Given the description of an element on the screen output the (x, y) to click on. 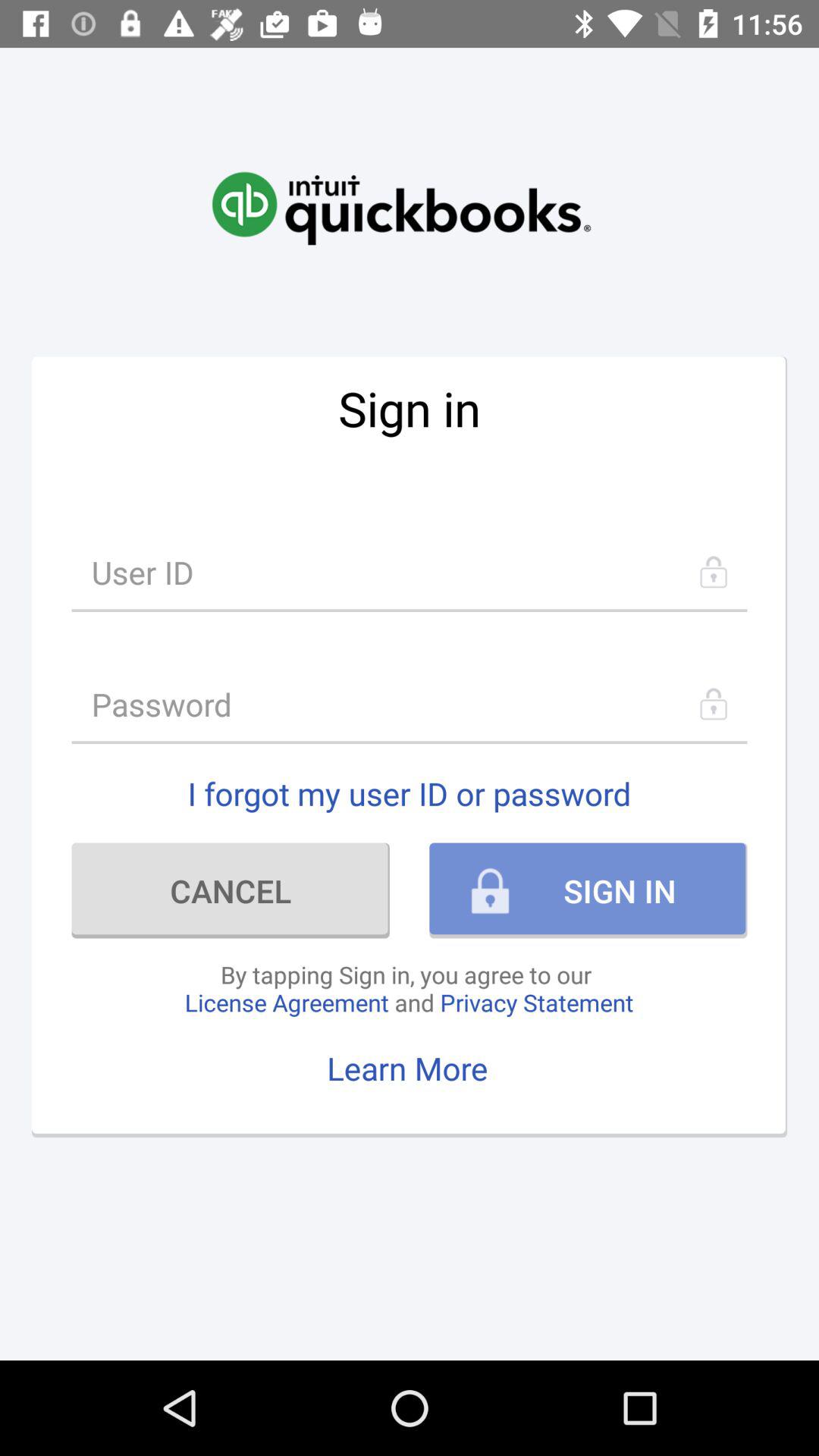
swipe until by tapping sign item (408, 988)
